Given the description of an element on the screen output the (x, y) to click on. 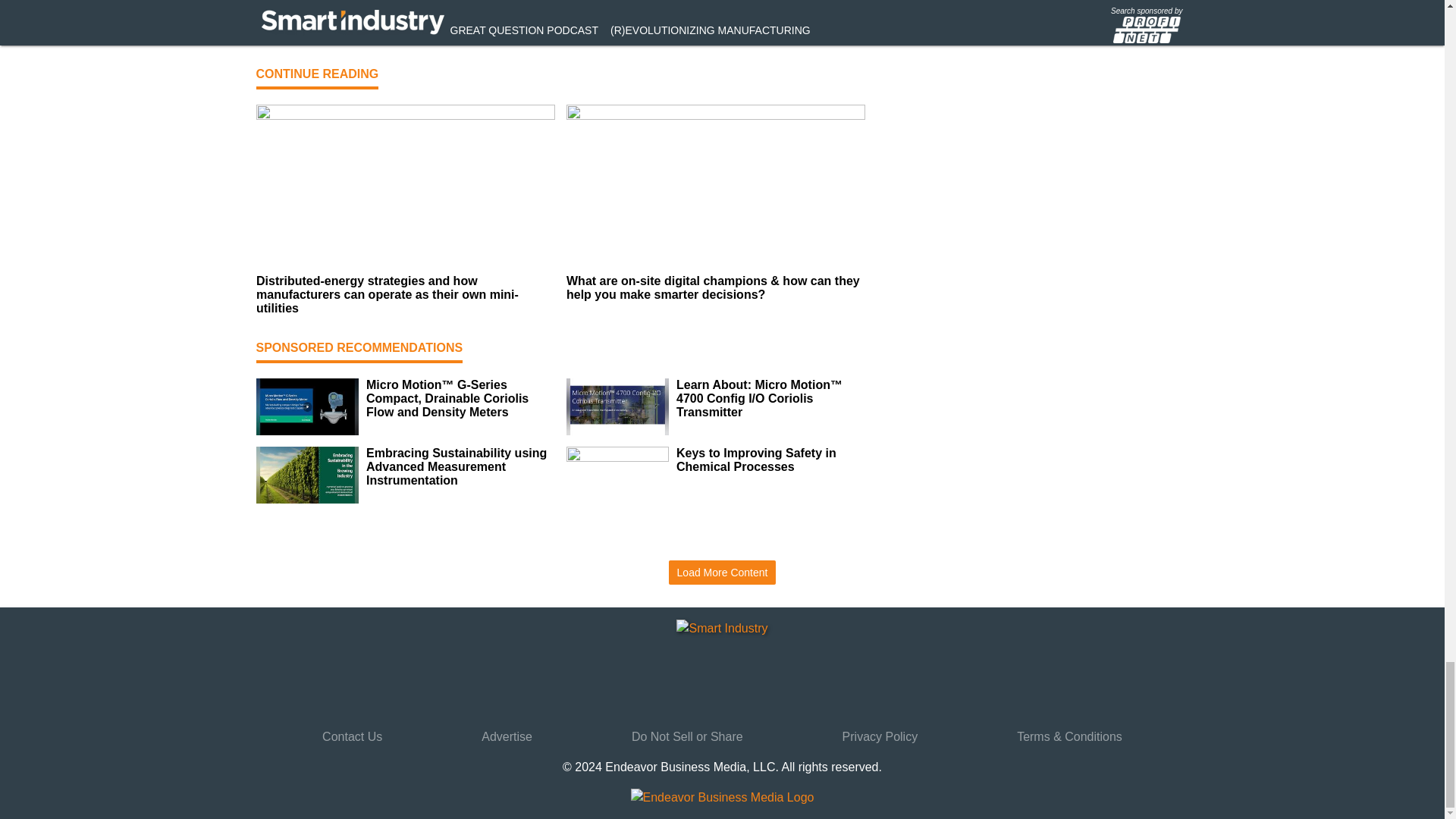
Keys to Improving Safety in Chemical Processes (770, 460)
